Given the description of an element on the screen output the (x, y) to click on. 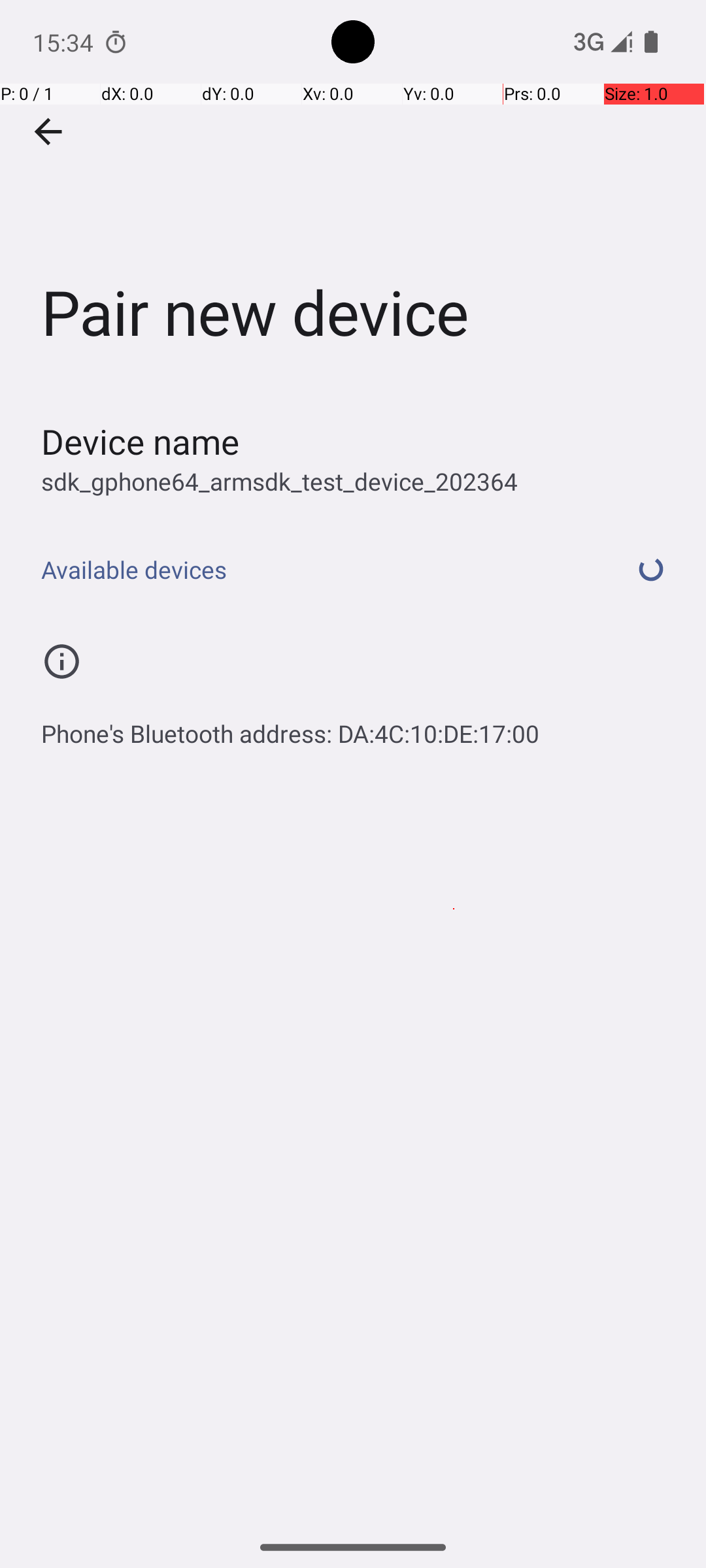
sdk_gphone64_armsdk_test_device_202364 Element type: android.widget.TextView (279, 480)
Available devices Element type: android.widget.TextView (318, 569)
Phone's Bluetooth address: DA:4C:10:DE:17:00 Element type: android.widget.TextView (290, 726)
